Given the description of an element on the screen output the (x, y) to click on. 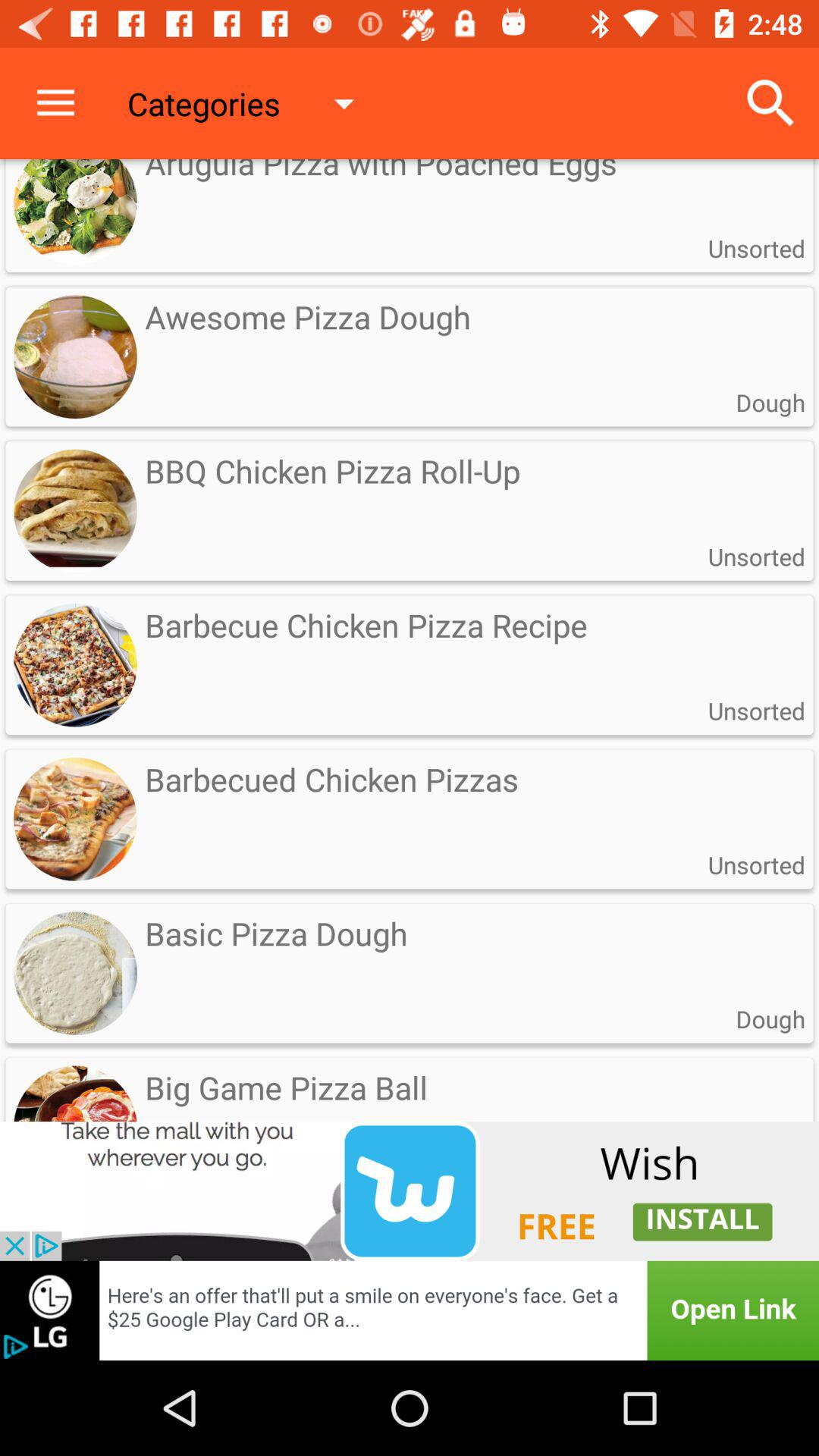
advertisement page (409, 1190)
